Given the description of an element on the screen output the (x, y) to click on. 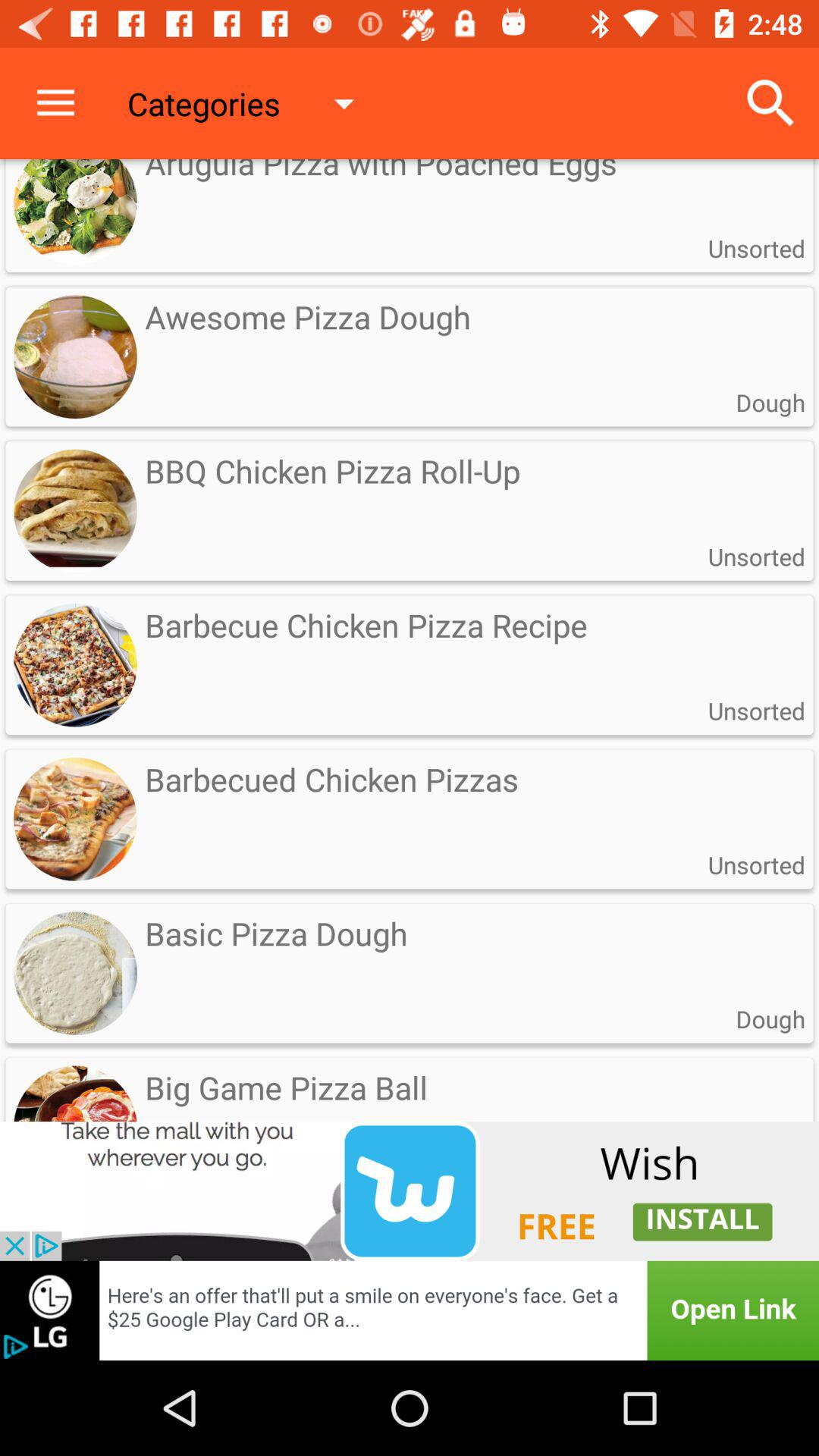
advertisement page (409, 1190)
